Given the description of an element on the screen output the (x, y) to click on. 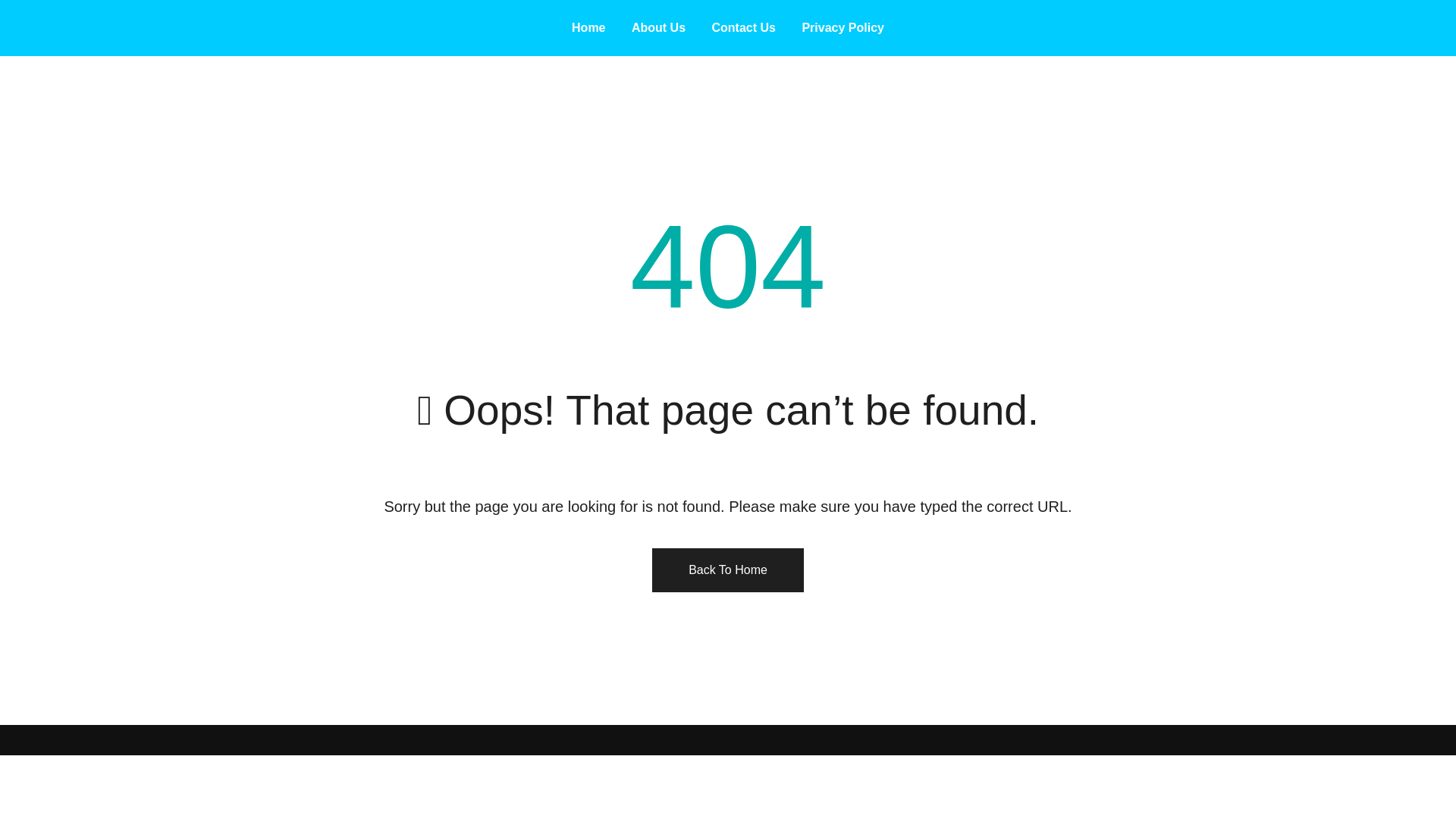
Privacy Policy (842, 27)
About Us (658, 27)
Back To Home (727, 569)
Contact Us (743, 27)
Home (587, 27)
